Given the description of an element on the screen output the (x, y) to click on. 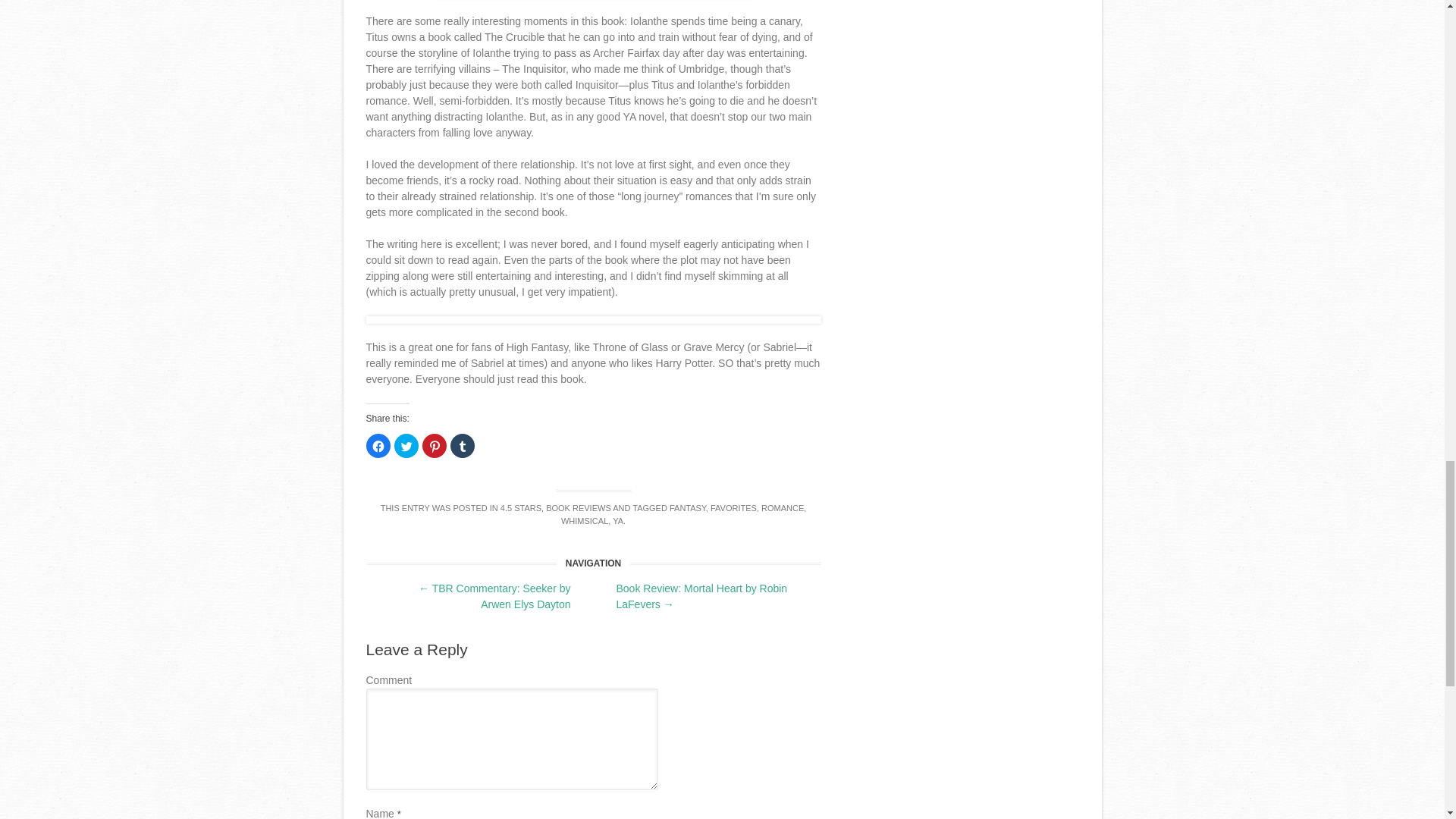
FANTASY (687, 507)
4.5 STARS (520, 507)
Click to share on Facebook (377, 445)
FAVORITES (733, 507)
Click to share on Tumblr (461, 445)
Click to share on Twitter (406, 445)
BOOK REVIEWS (578, 507)
ROMANCE (782, 507)
Click to share on Pinterest (433, 445)
WHIMSICAL (584, 520)
